Given the description of an element on the screen output the (x, y) to click on. 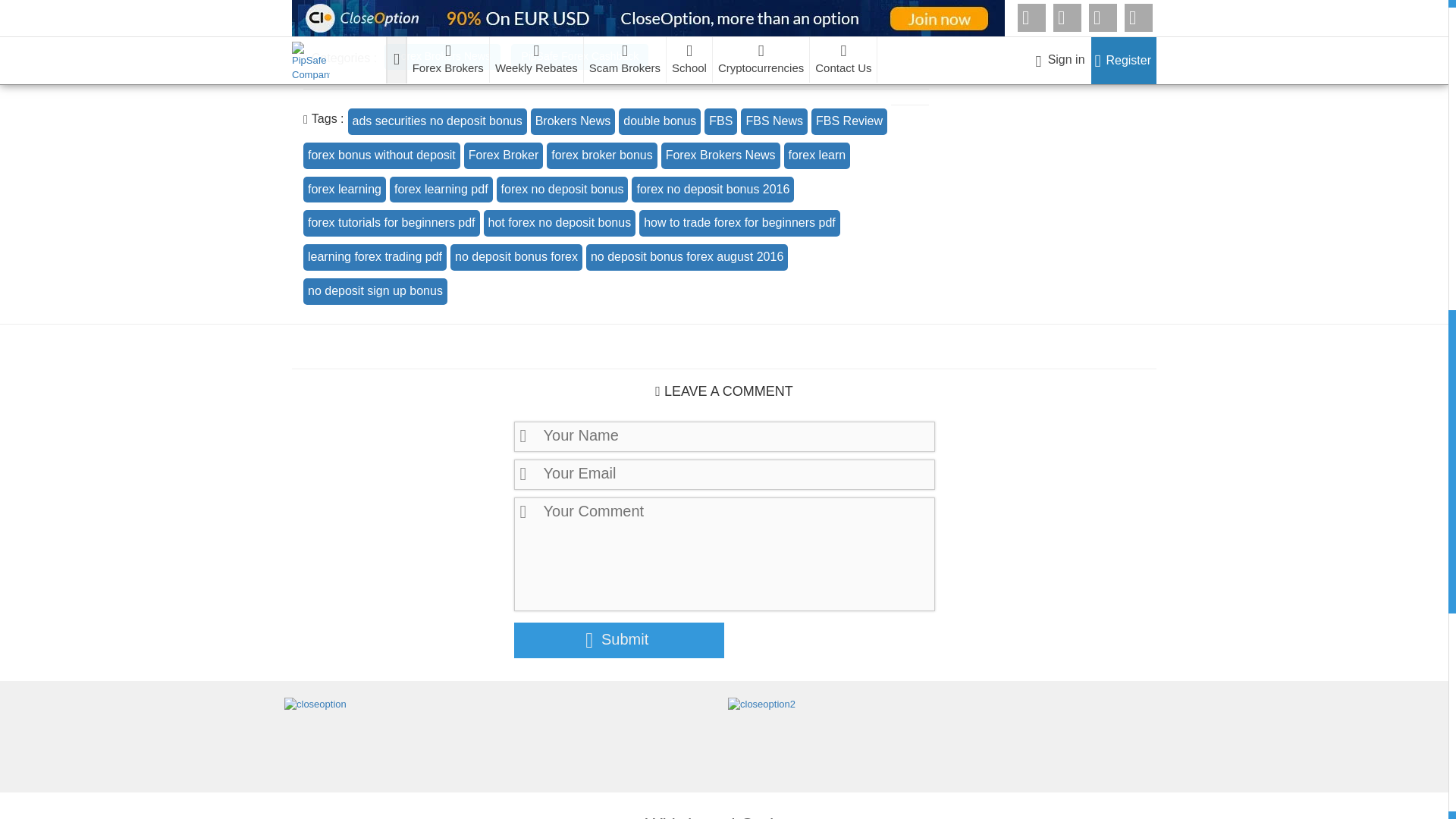
This field is necessary. (723, 553)
Please write a valid email address (723, 474)
